Given the description of an element on the screen output the (x, y) to click on. 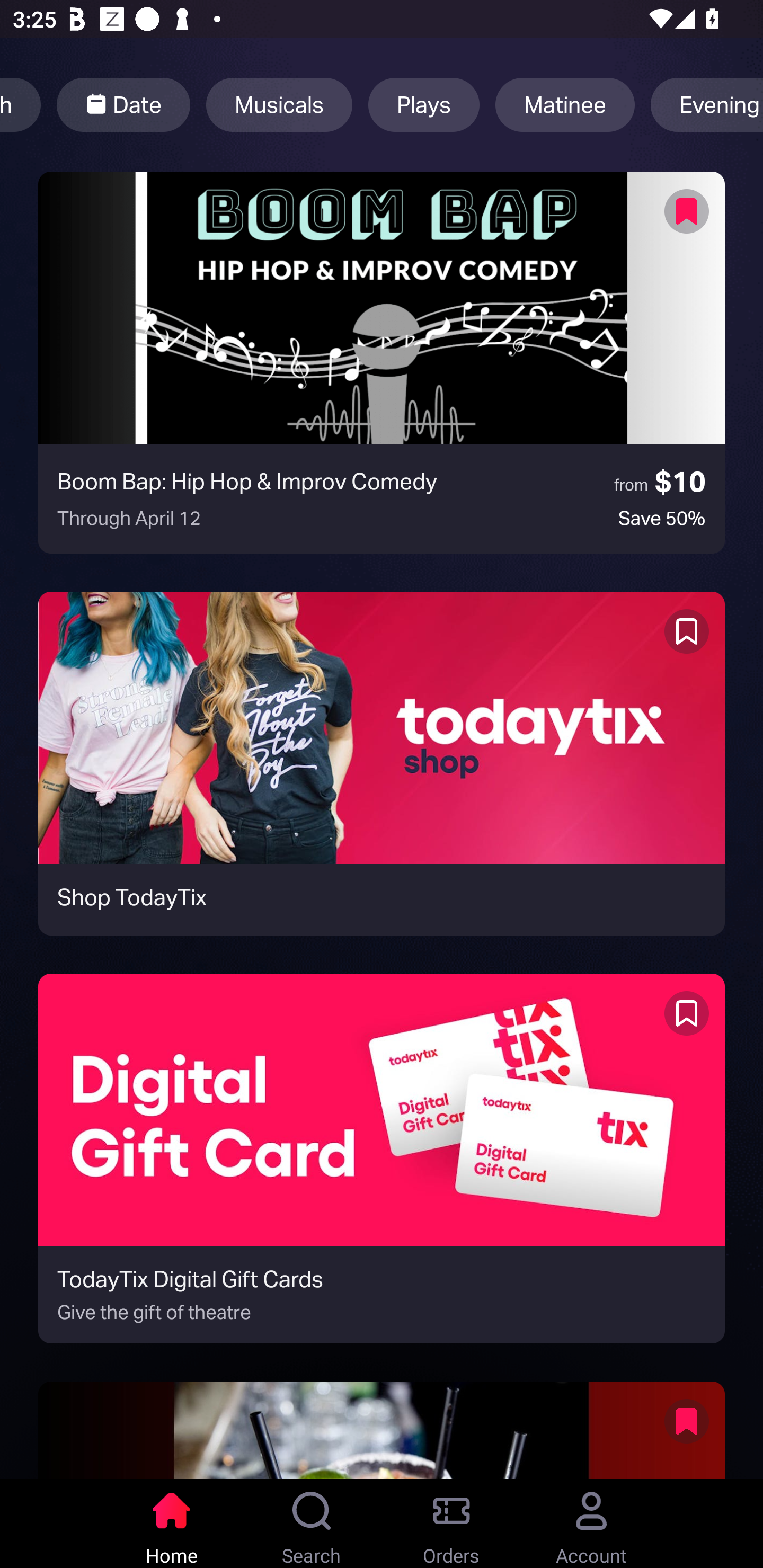
Date (122, 104)
Musicals (279, 104)
Plays (423, 104)
Matinee (564, 104)
Shop TodayTix (381, 763)
Search (311, 1523)
Orders (451, 1523)
Account (591, 1523)
